Given the description of an element on the screen output the (x, y) to click on. 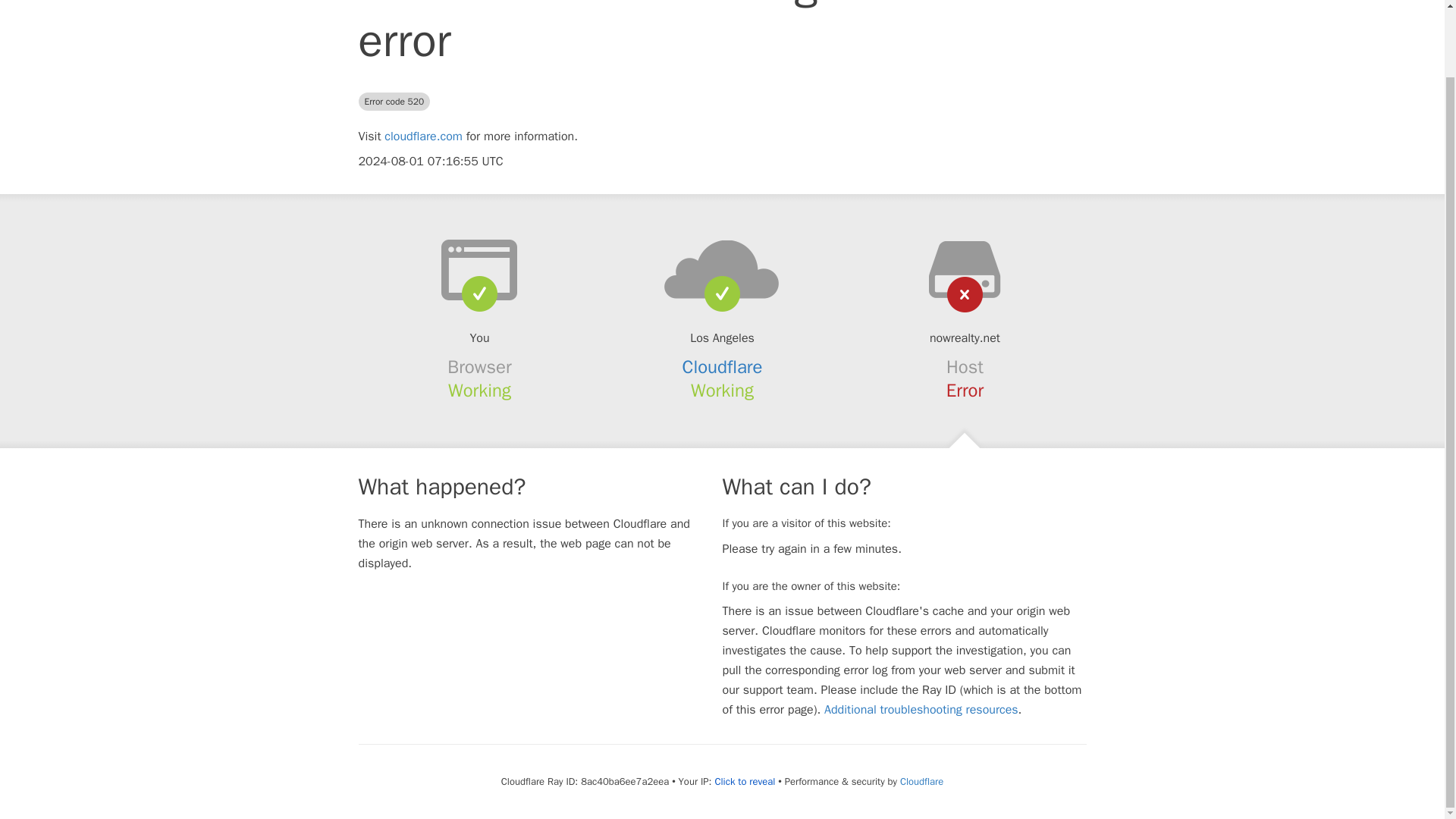
Additional troubleshooting resources (920, 709)
Cloudflare (722, 366)
Click to reveal (744, 781)
Cloudflare (921, 780)
cloudflare.com (423, 136)
